Given the description of an element on the screen output the (x, y) to click on. 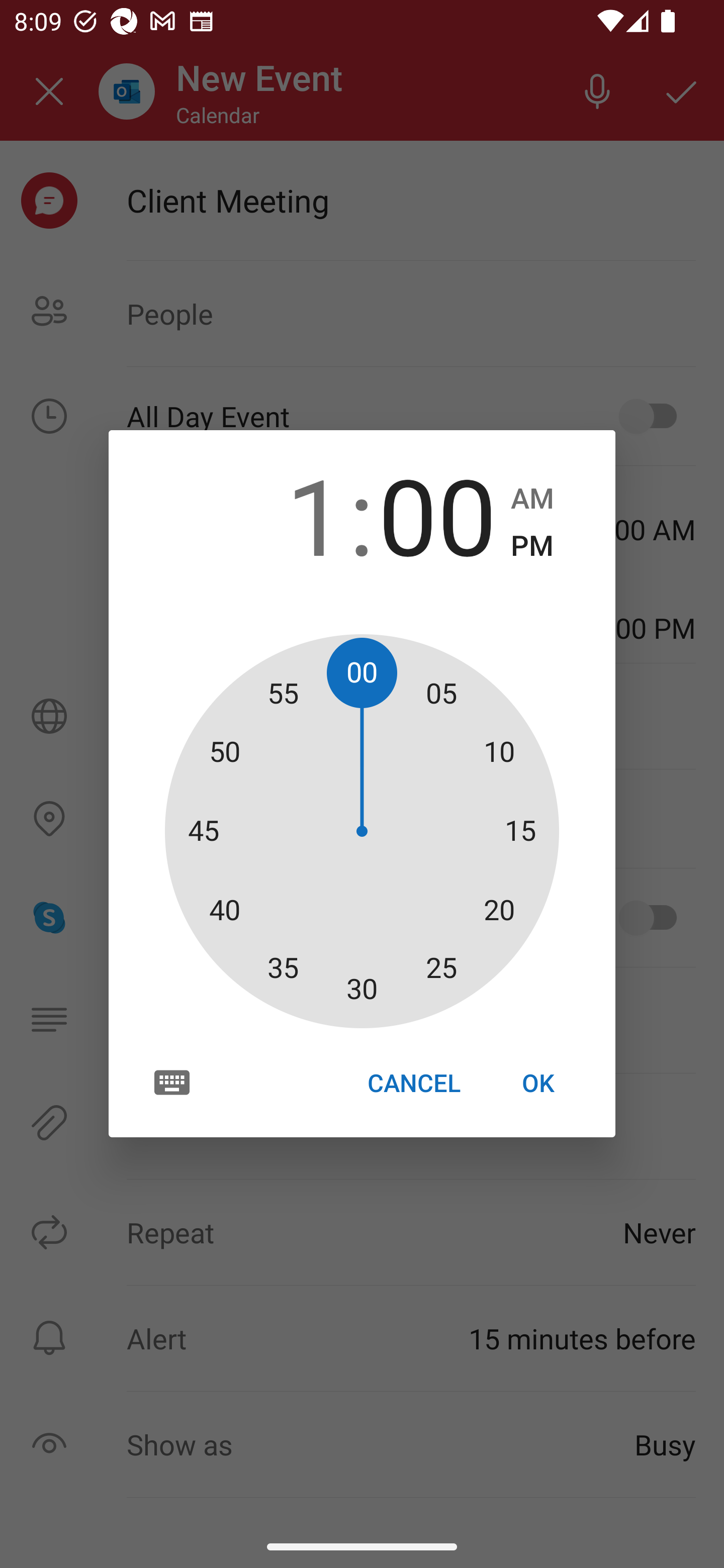
1 (285, 513)
00 (436, 513)
AM (532, 498)
PM (532, 546)
CANCEL (413, 1082)
OK (537, 1082)
Switch to text input mode for the time input. (171, 1081)
